Given the description of an element on the screen output the (x, y) to click on. 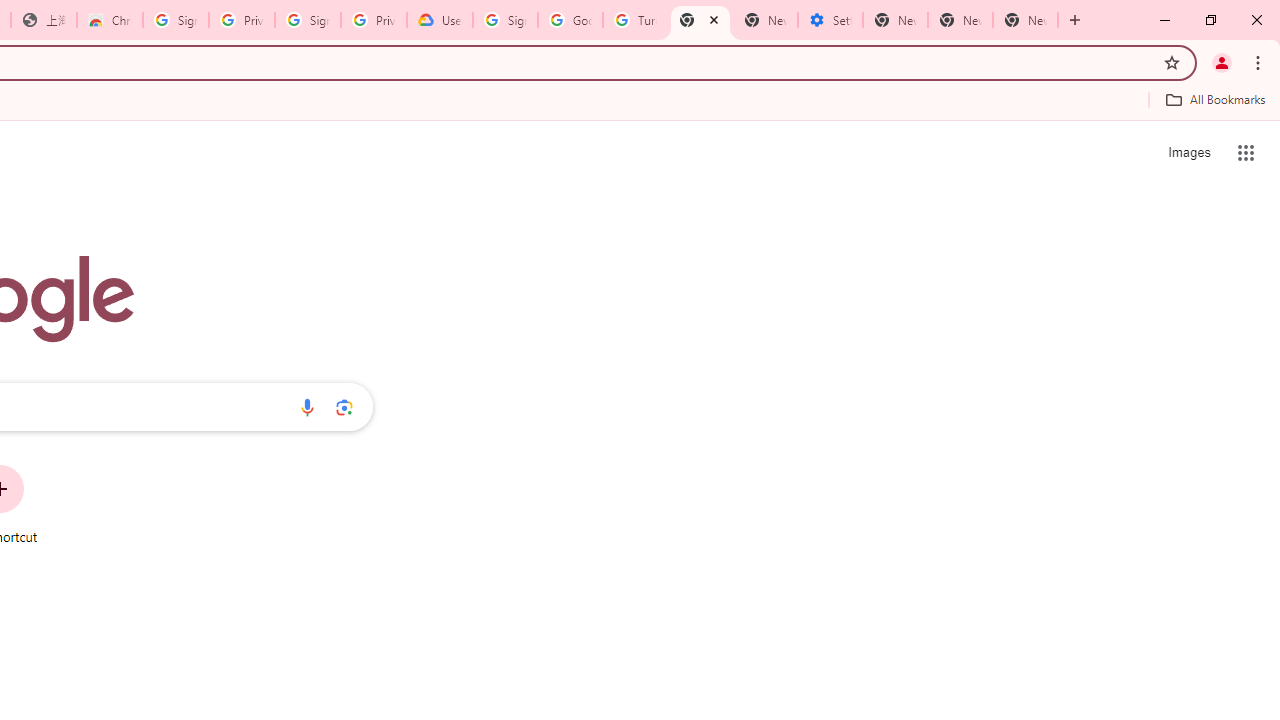
Chrome Web Store - Color themes by Chrome (109, 20)
Turn cookies on or off - Computer - Google Account Help (635, 20)
All Bookmarks (1215, 99)
New Tab (1025, 20)
Search by image (344, 407)
Sign in - Google Accounts (504, 20)
